Given the description of an element on the screen output the (x, y) to click on. 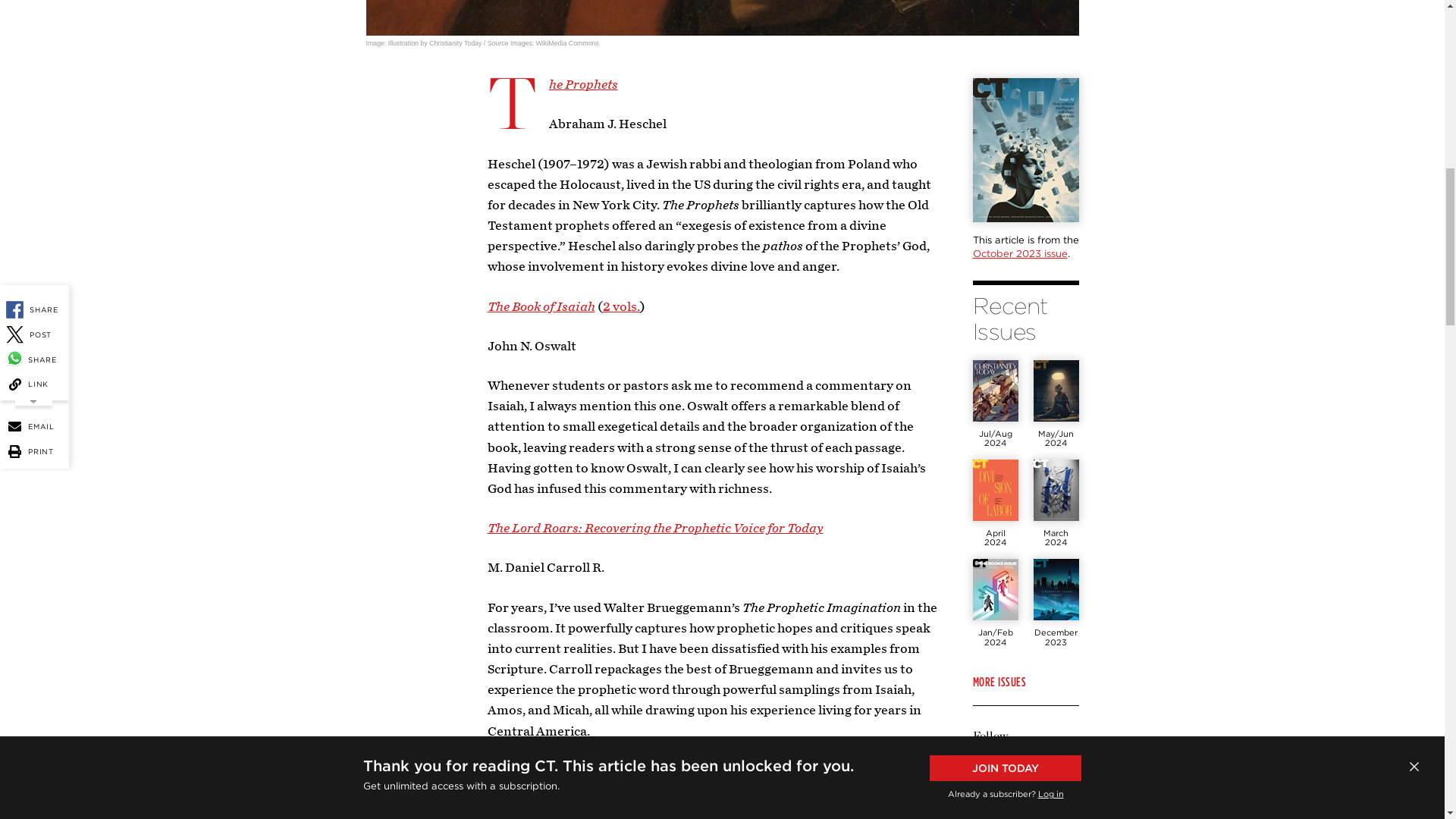
5 Books on the Witness of the Old Testament Prophets (721, 18)
